Given the description of an element on the screen output the (x, y) to click on. 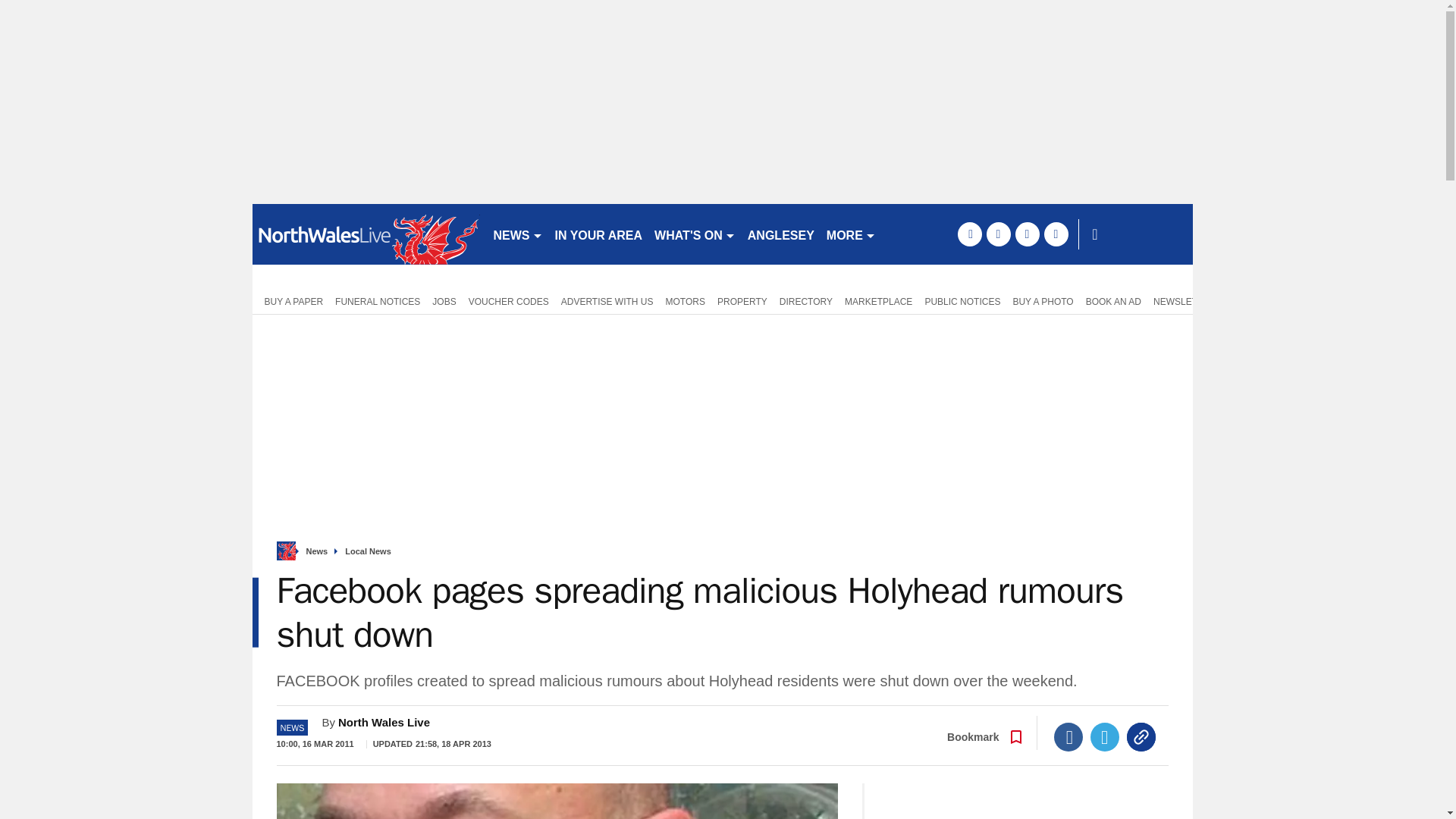
Twitter (1104, 736)
facebook (968, 233)
BUY A PAPER (290, 300)
northwales (365, 233)
IN YOUR AREA (598, 233)
ADVERTISE WITH US (606, 300)
pinterest (1026, 233)
MORE (851, 233)
PROPERTY (742, 300)
ANGLESEY (781, 233)
